Given the description of an element on the screen output the (x, y) to click on. 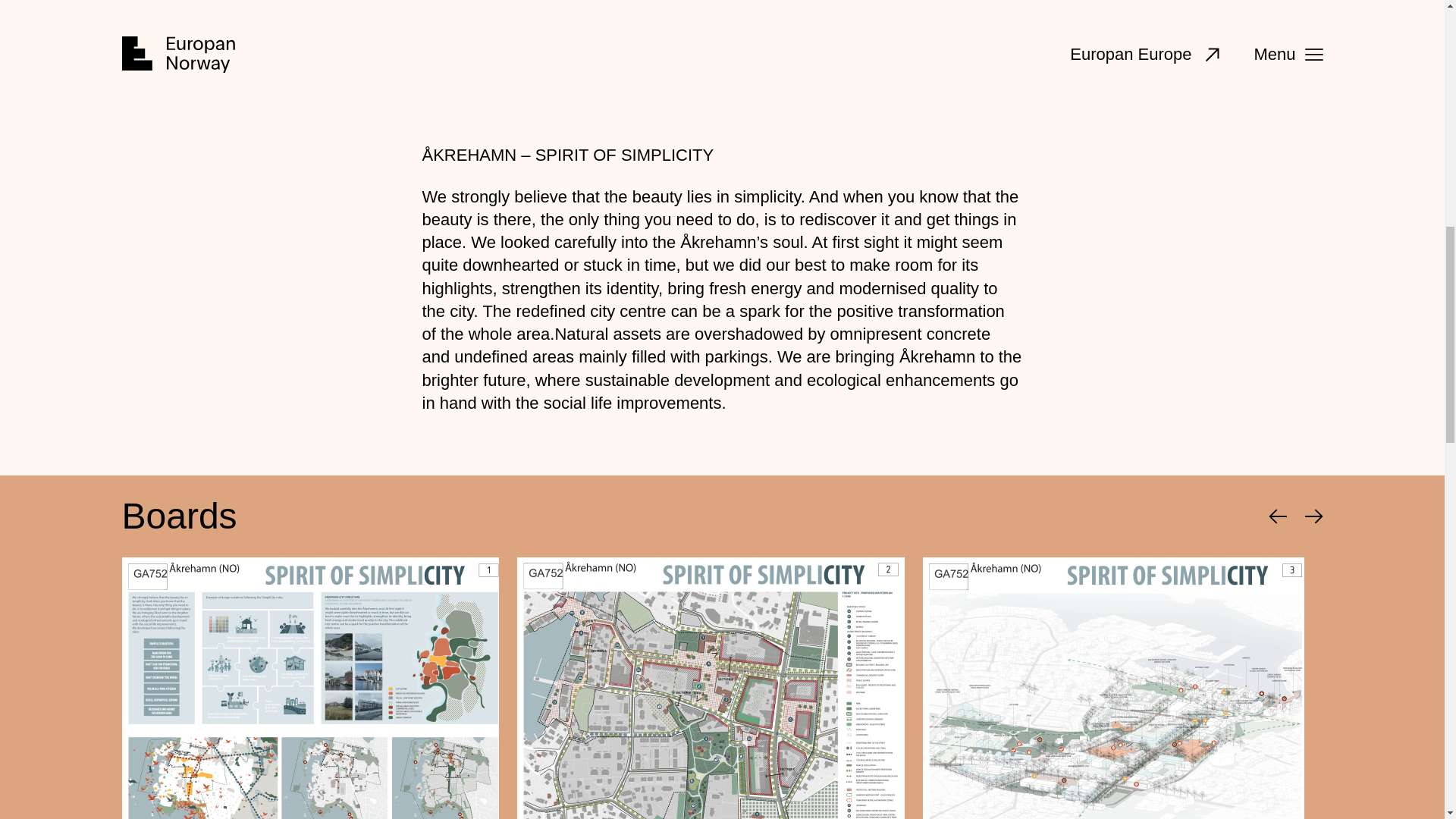
Previous (1276, 515)
Next (1313, 515)
